Given the description of an element on the screen output the (x, y) to click on. 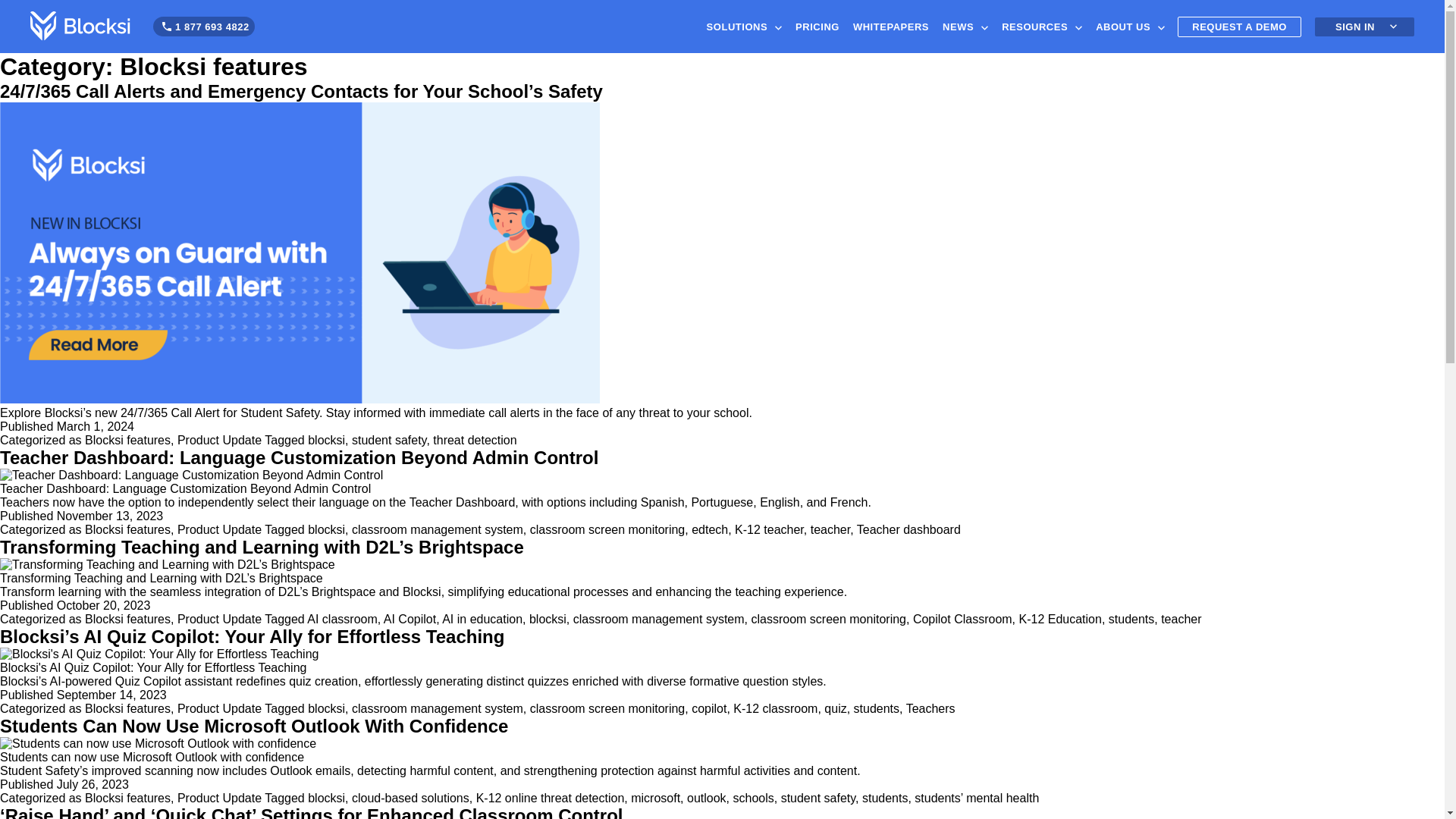
SOLUTIONS (744, 26)
REQUEST A DEMO (1239, 26)
NEWS (965, 26)
WHITEPAPERS (890, 26)
RESOURCES (1041, 26)
1 877 693 4822 (211, 26)
PRICING (817, 26)
ABOUT US (1130, 26)
